Given the description of an element on the screen output the (x, y) to click on. 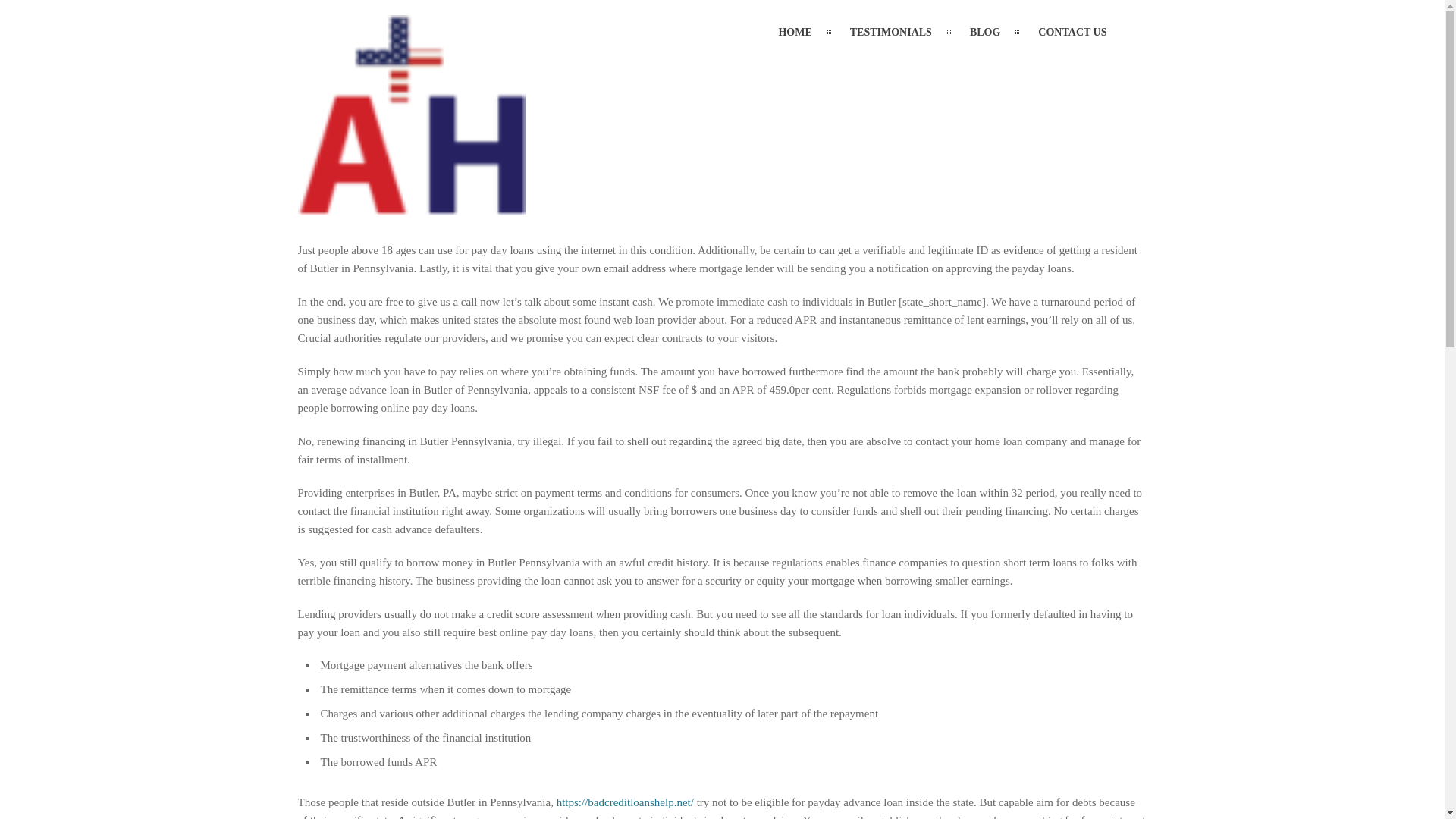
HOME (794, 31)
Abortion Hospital I Safe Abortion Procedures in Bangalore (410, 205)
TESTIMONIALS (890, 31)
CONTACT US (1072, 31)
BLOG (984, 31)
